Given the description of an element on the screen output the (x, y) to click on. 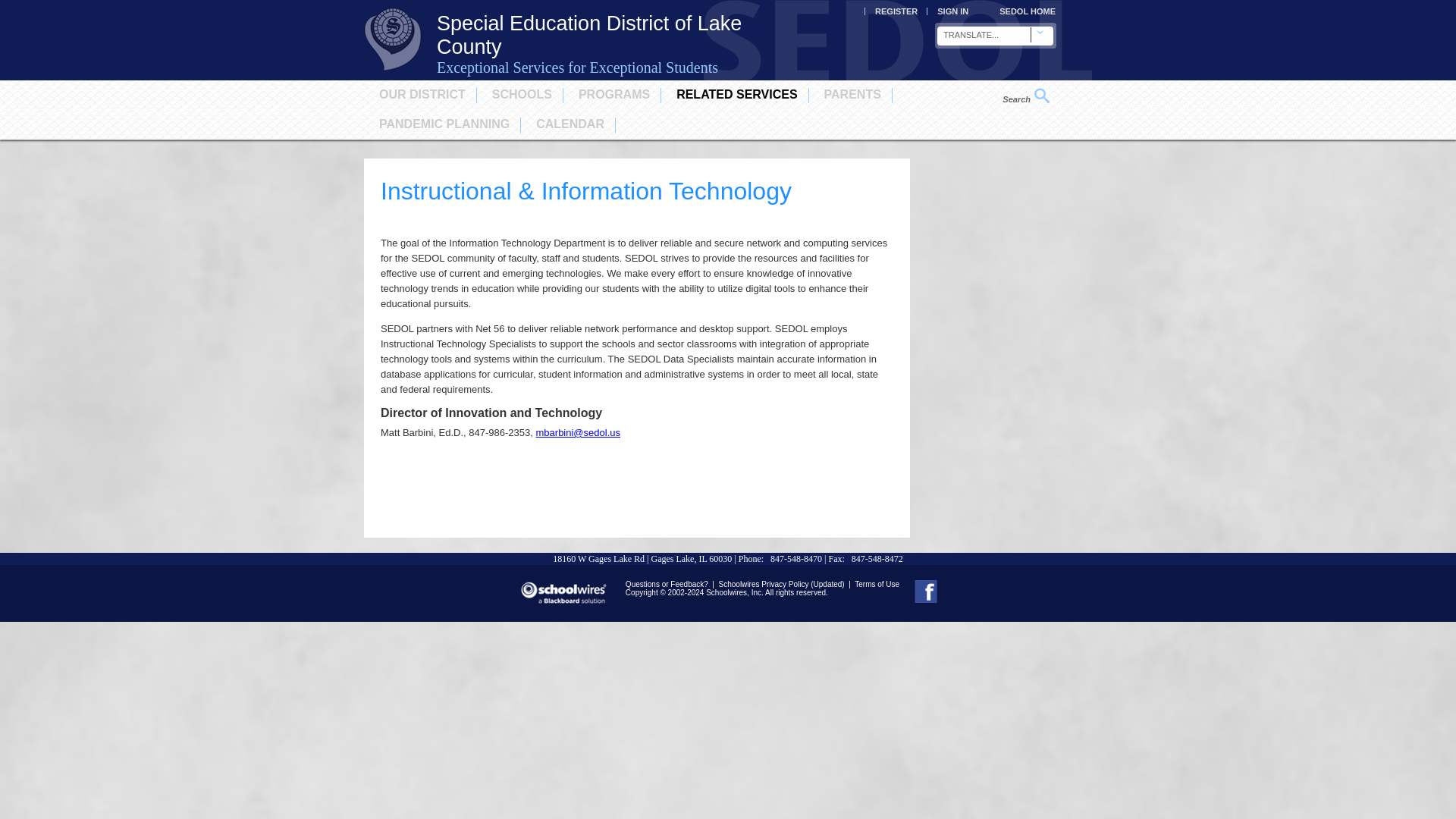
SIGN IN (952, 11)
Return to the homepage on the district site. (1026, 11)
SCHOOLS (521, 94)
Special Education District of Lake County (393, 71)
OUR DISTRICT (422, 94)
SEDOL HOME (1026, 11)
REGISTER (896, 11)
